Given the description of an element on the screen output the (x, y) to click on. 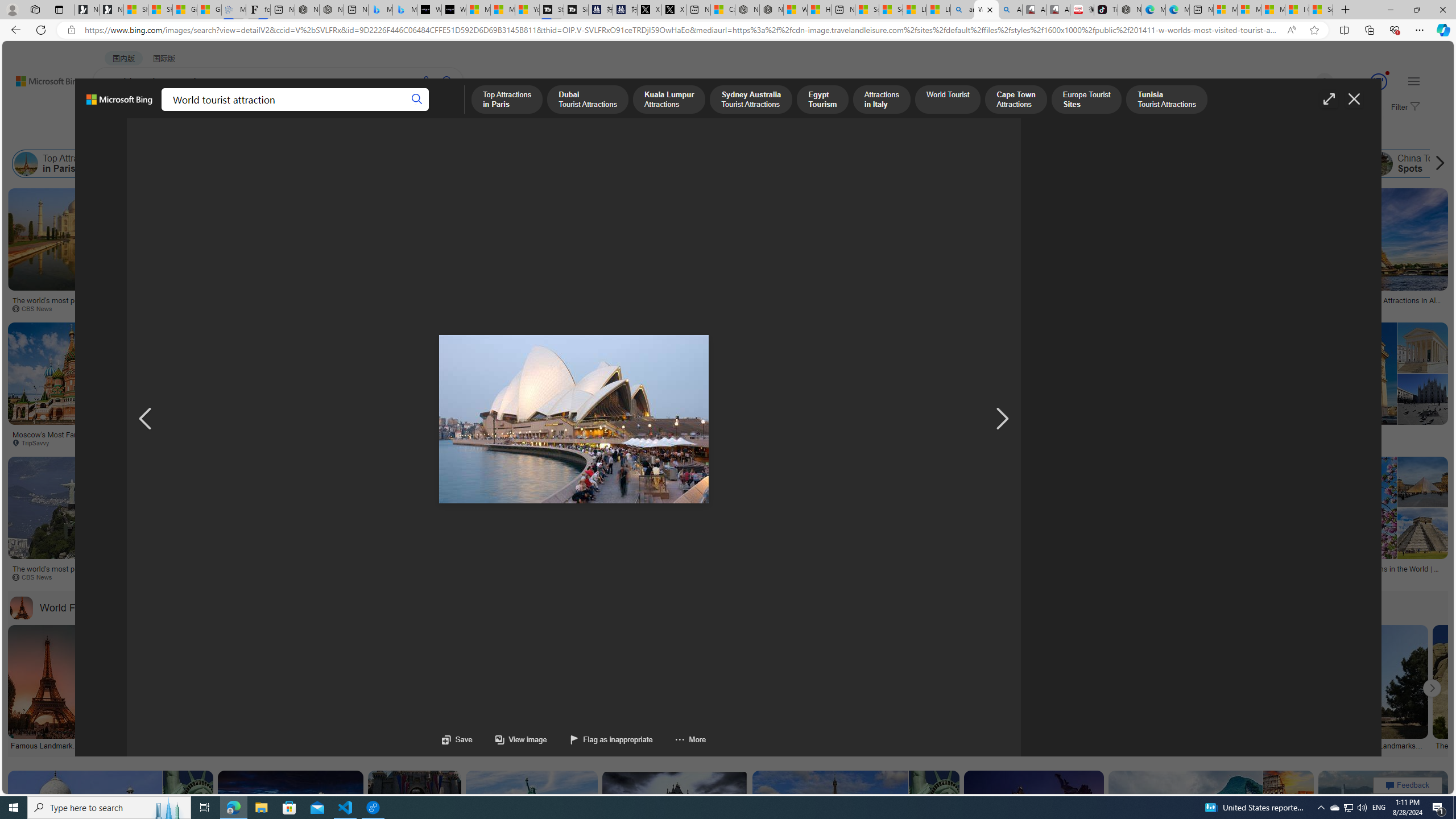
Famous Landmarks in the world Famous Landmarks in the world (44, 687)
Top world's tourist places to visitfemuacorsica.comSave (837, 387)
DICT (357, 111)
IMAGES (156, 112)
Eiffel Tower Souvenir (727, 227)
Type (212, 135)
Scroll right (1436, 163)
Cape Town Attractions (781, 163)
